Given the description of an element on the screen output the (x, y) to click on. 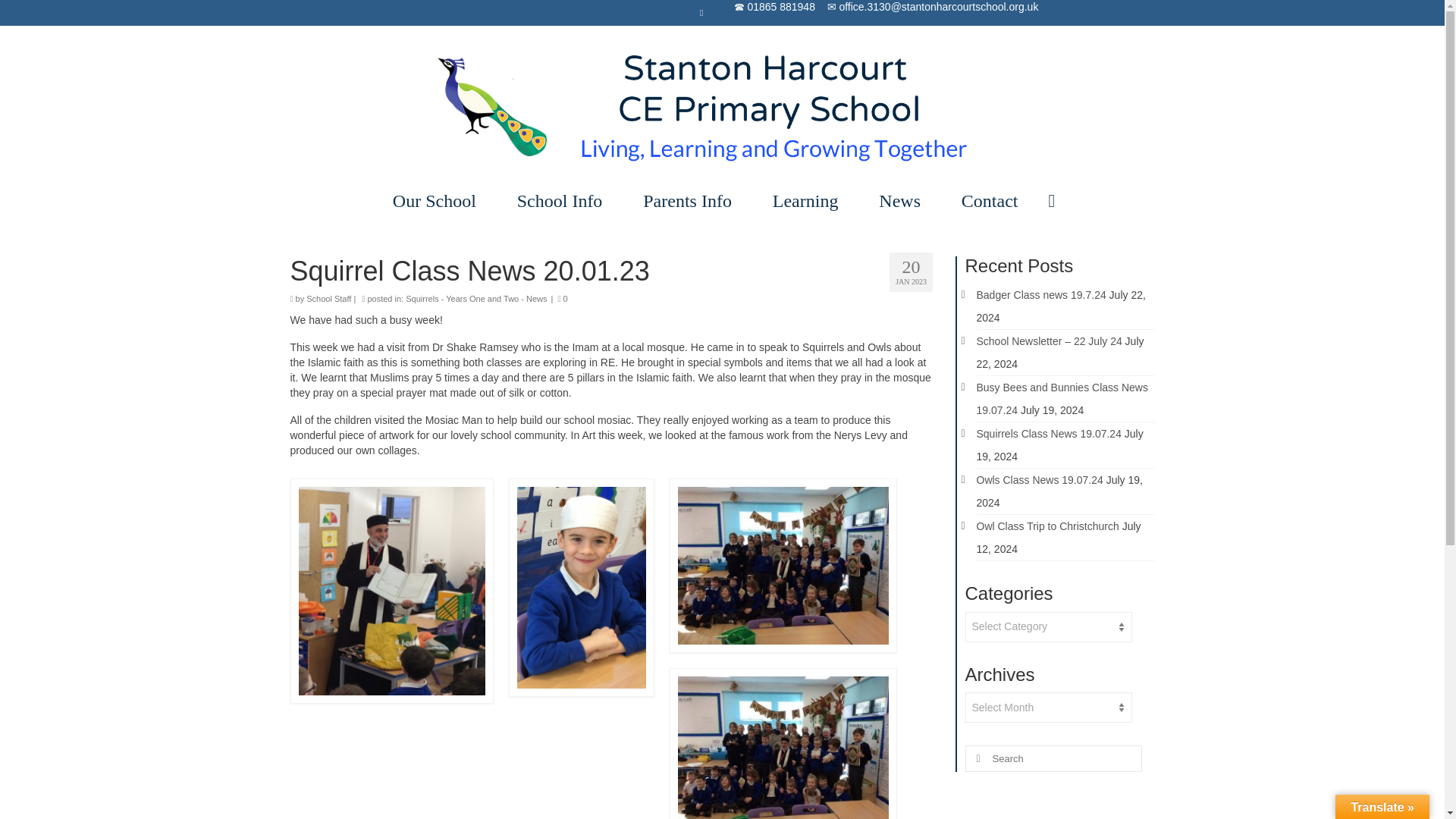
Our School (438, 200)
Search (1051, 200)
News (903, 200)
Stanton Harcourt Primary School (724, 104)
Parents Info (690, 200)
Contact (989, 200)
Learning (809, 200)
School Info (564, 200)
